Given the description of an element on the screen output the (x, y) to click on. 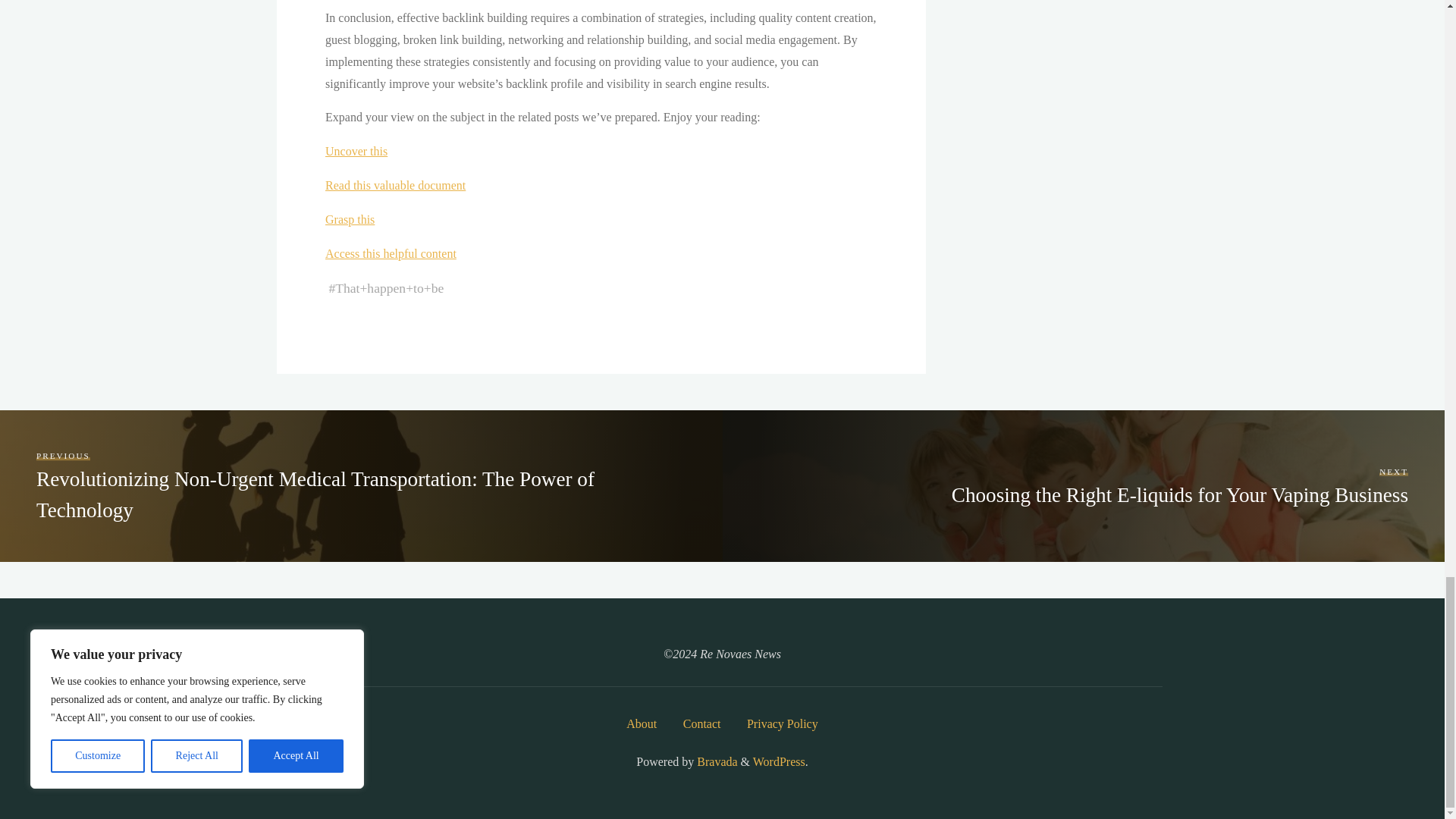
Bravada WordPress Theme by Cryout Creations (715, 761)
Read this valuable document (394, 185)
Uncover this (355, 151)
Access this helpful content (389, 253)
Grasp this (349, 219)
Semantic Personal Publishing Platform (778, 761)
